Given the description of an element on the screen output the (x, y) to click on. 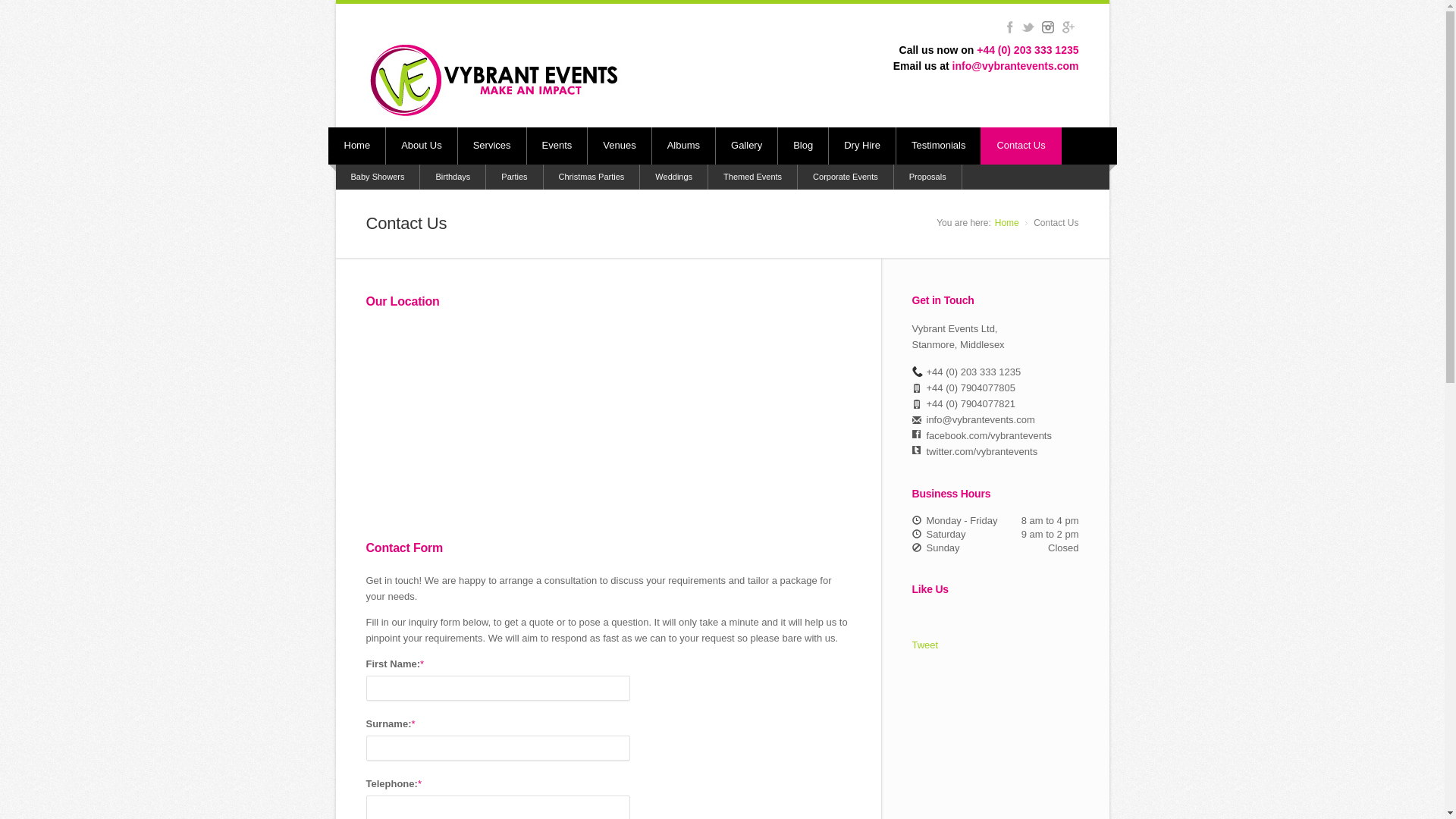
Baby Showers (377, 176)
twitter (1027, 27)
Facebook (1009, 27)
gplus (1068, 27)
instagram (1047, 27)
facebook (1009, 27)
Proposals (927, 176)
Venues (619, 145)
Instagram (1047, 27)
Contact Us (1020, 145)
Albums (684, 145)
Themed Events (752, 176)
Corporate Events (845, 176)
Gallery (746, 145)
Google Plus (1068, 27)
